Given the description of an element on the screen output the (x, y) to click on. 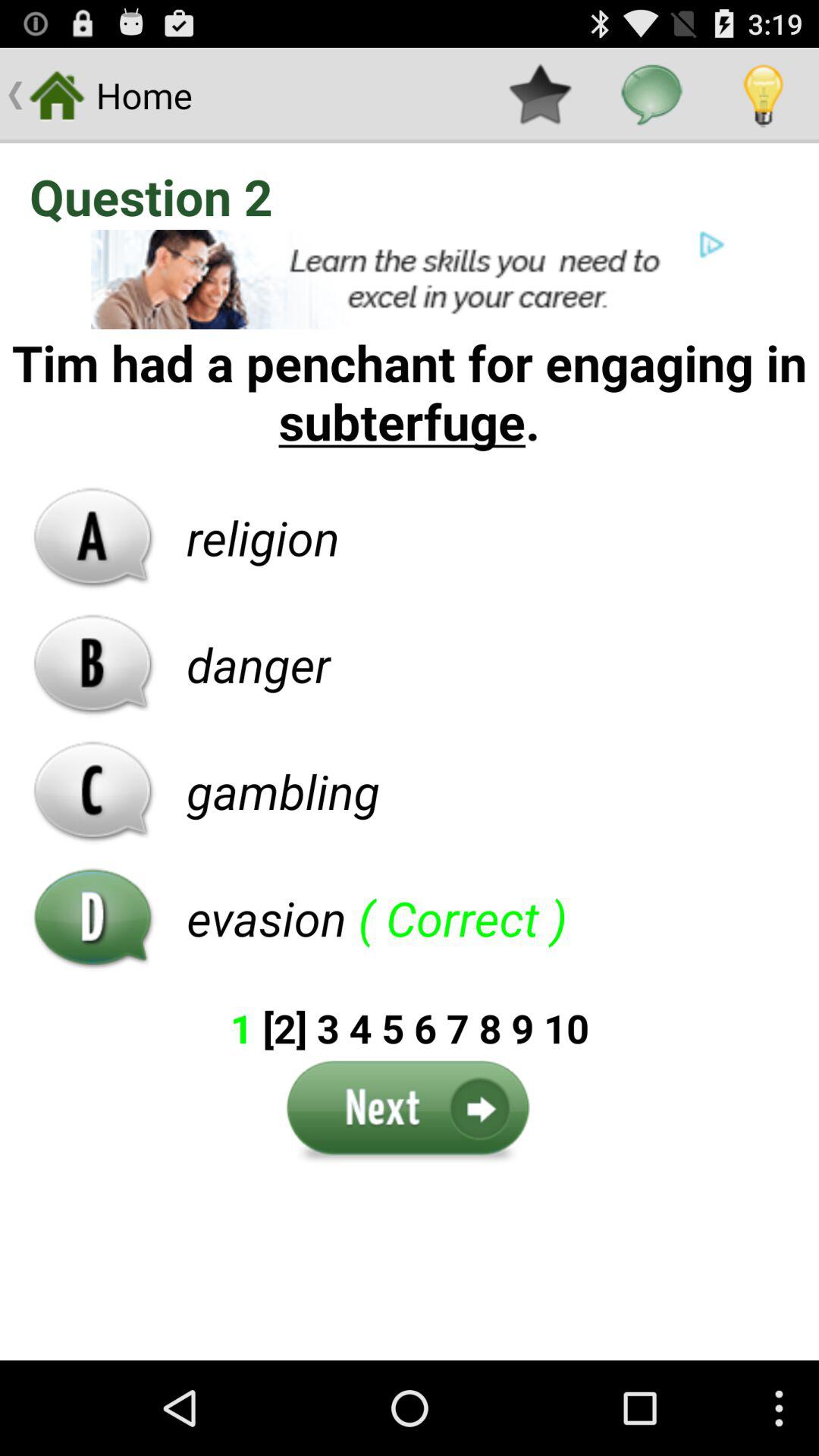
select the item to the right of the home app (540, 95)
